Given the description of an element on the screen output the (x, y) to click on. 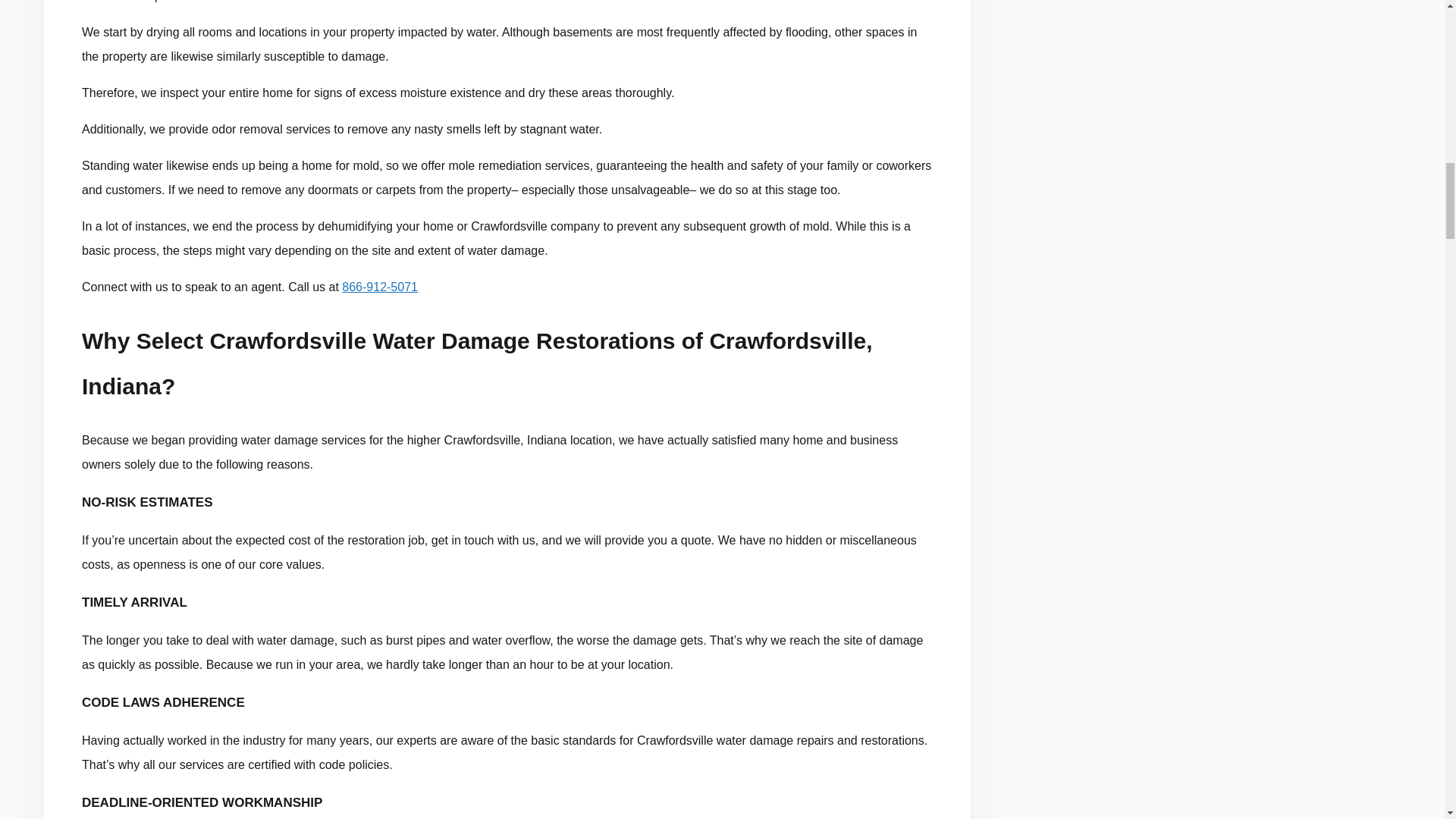
866-912-5071 (379, 286)
